Given the description of an element on the screen output the (x, y) to click on. 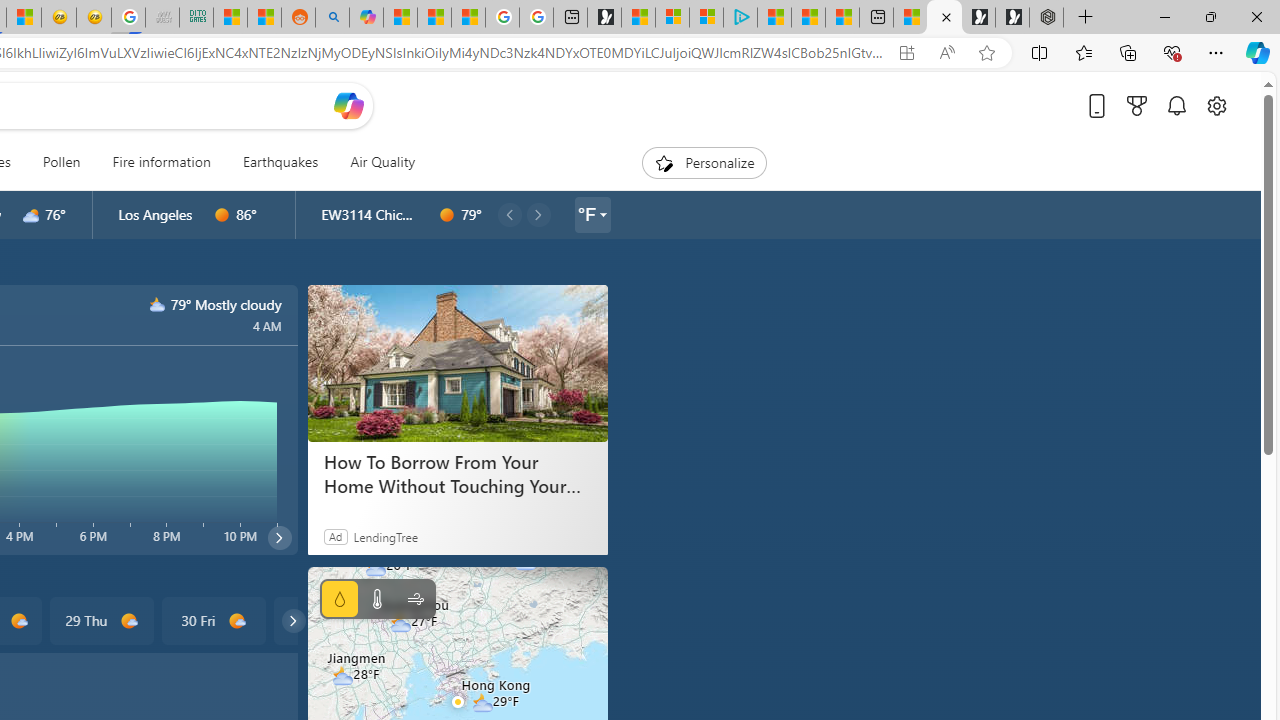
Fire information (161, 162)
31 Sat d1000 (324, 620)
locationBar/triangle (602, 214)
Earthquakes (280, 162)
